Given the description of an element on the screen output the (x, y) to click on. 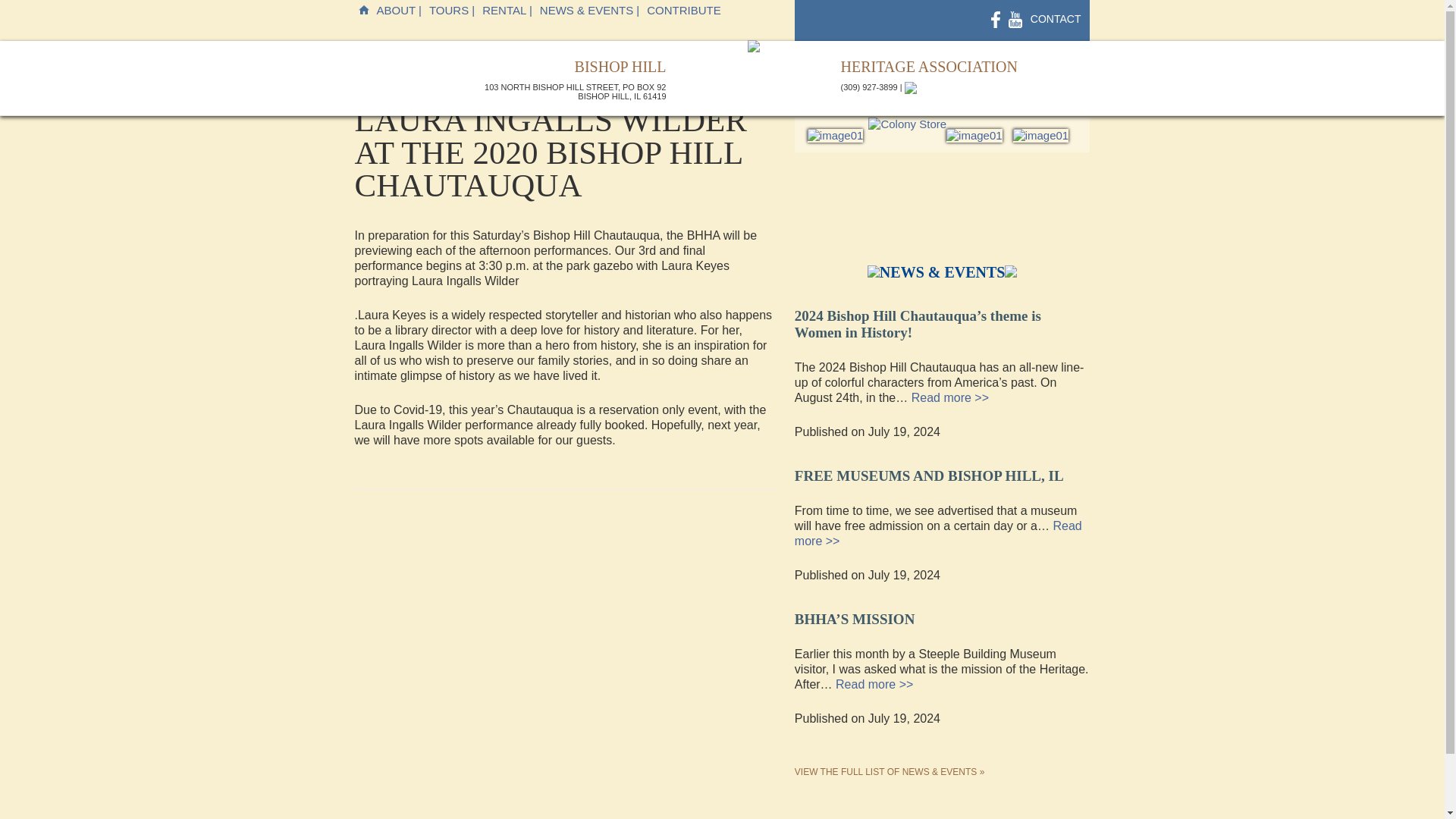
CONTACT (1055, 18)
CONTRIBUTE (684, 10)
FREE MUSEUMS AND BISHOP HILL, IL (929, 471)
